Given the description of an element on the screen output the (x, y) to click on. 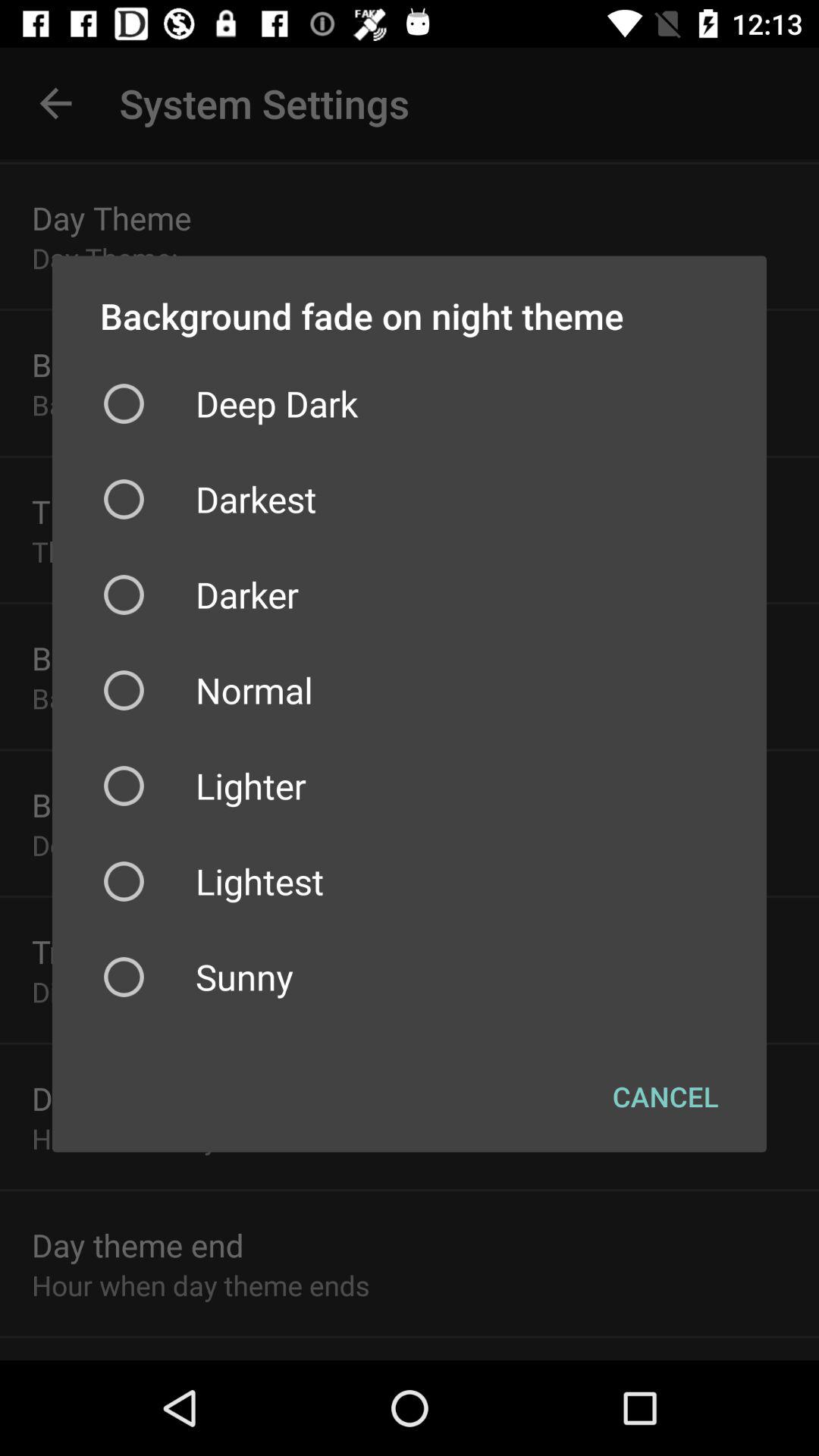
scroll until the cancel icon (665, 1096)
